Given the description of an element on the screen output the (x, y) to click on. 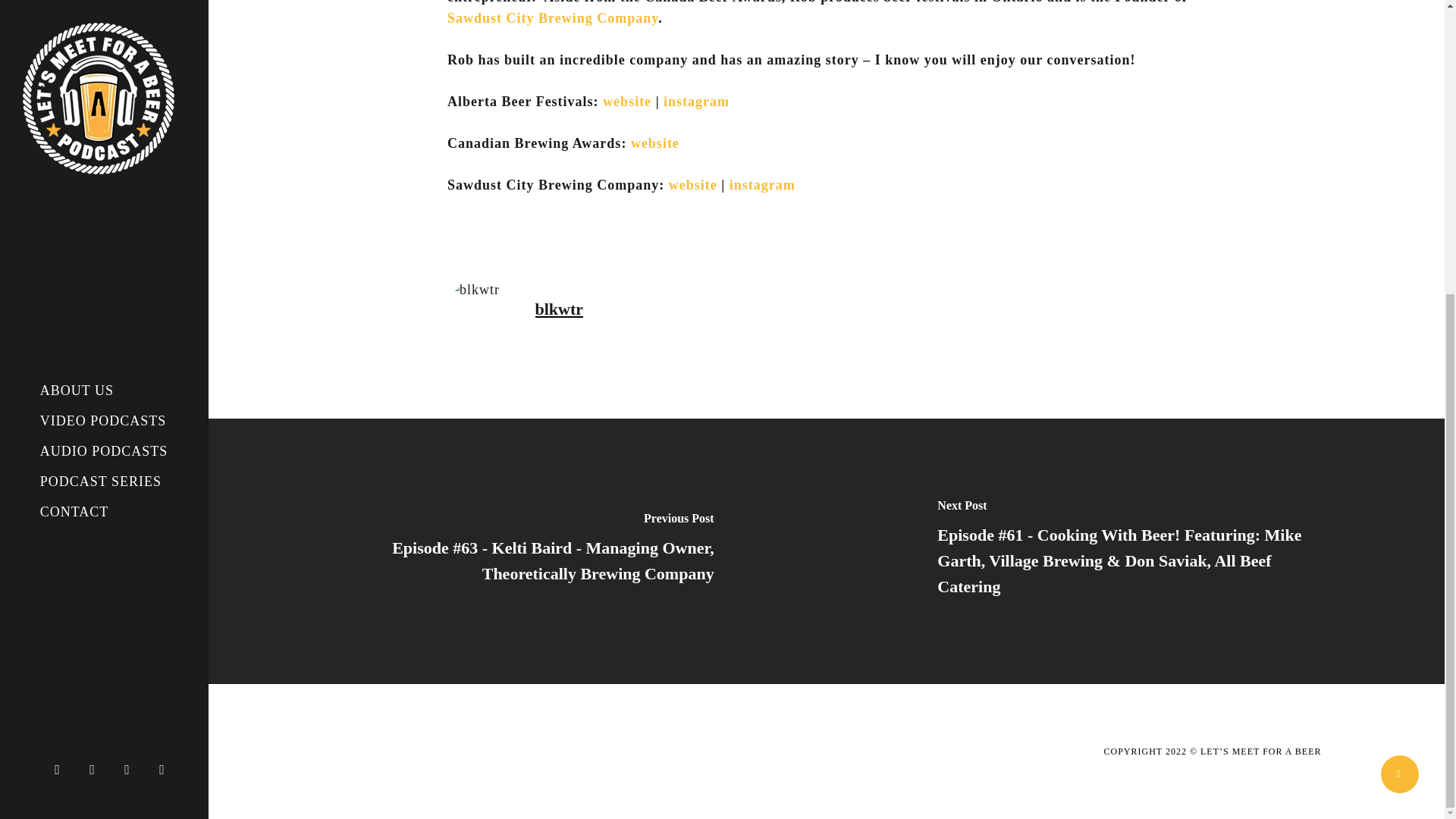
youtube (130, 317)
twitter (60, 317)
Sawdust City Brewing Company (552, 17)
instagram (761, 184)
AUDIO PODCASTS (104, 7)
PODCAST SERIES (100, 30)
website (626, 101)
facebook (95, 317)
blkwtr (559, 308)
website (692, 184)
instagram (696, 101)
website  (657, 142)
instagram (165, 317)
CONTACT (74, 60)
